Given the description of an element on the screen output the (x, y) to click on. 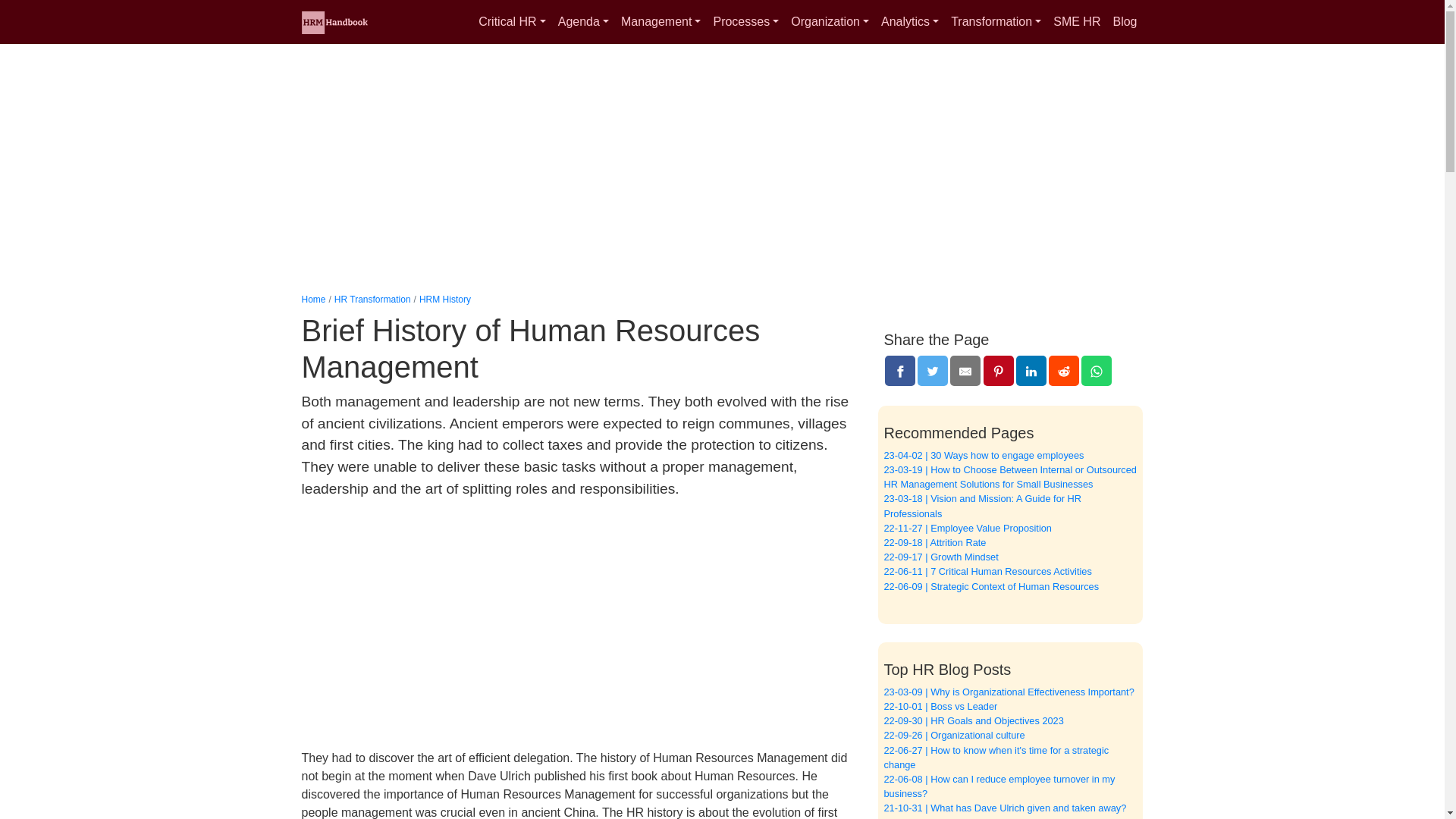
Agenda (582, 21)
Facebook (900, 370)
E-Mail (964, 370)
Critical HR (511, 21)
Management (660, 21)
Reddit (1063, 370)
Processes (745, 21)
Twitter (932, 370)
Advertisement (578, 630)
